Given the description of an element on the screen output the (x, y) to click on. 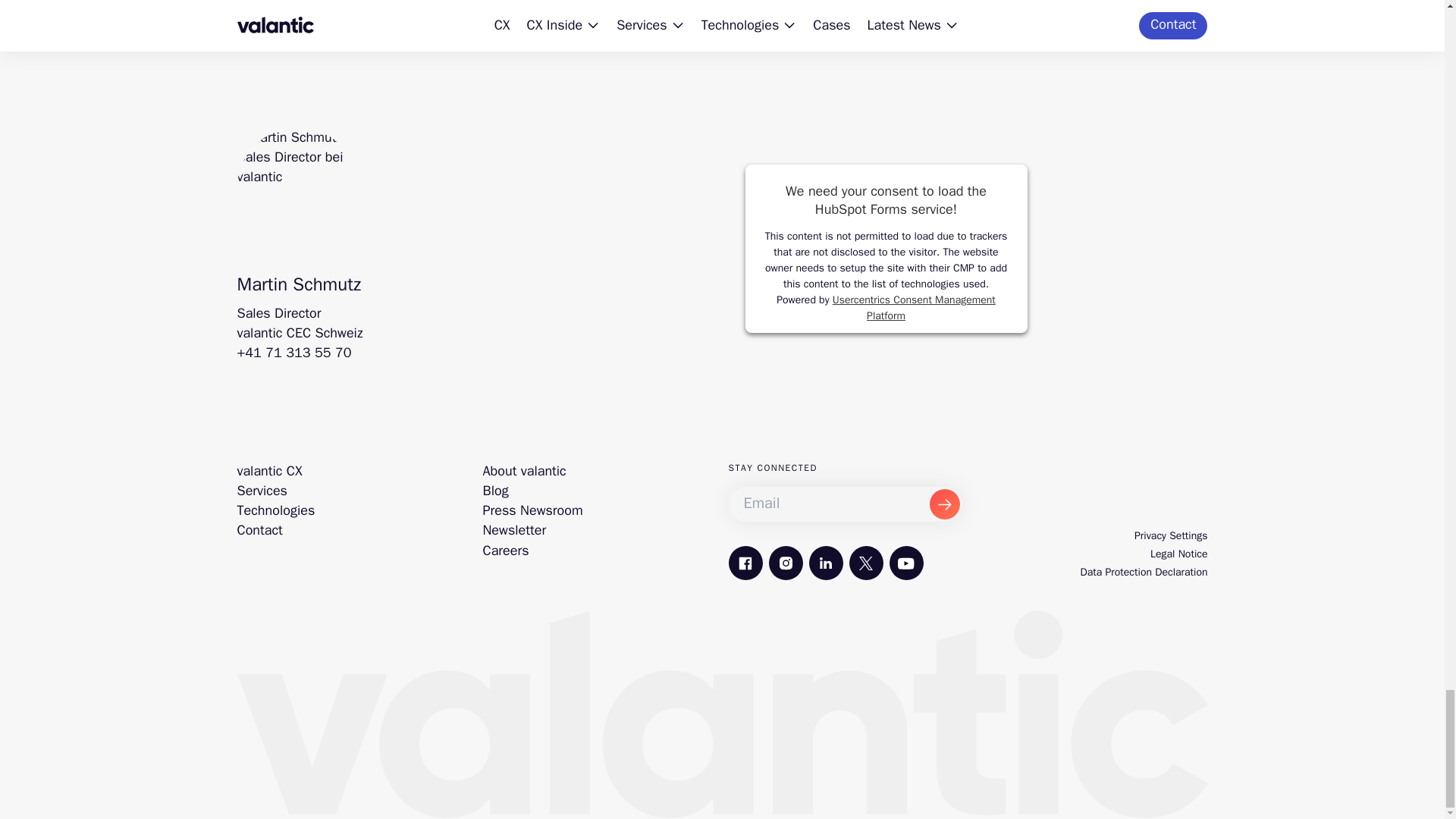
Martin Schmutz, Sales Director bei valantic (296, 187)
